Given the description of an element on the screen output the (x, y) to click on. 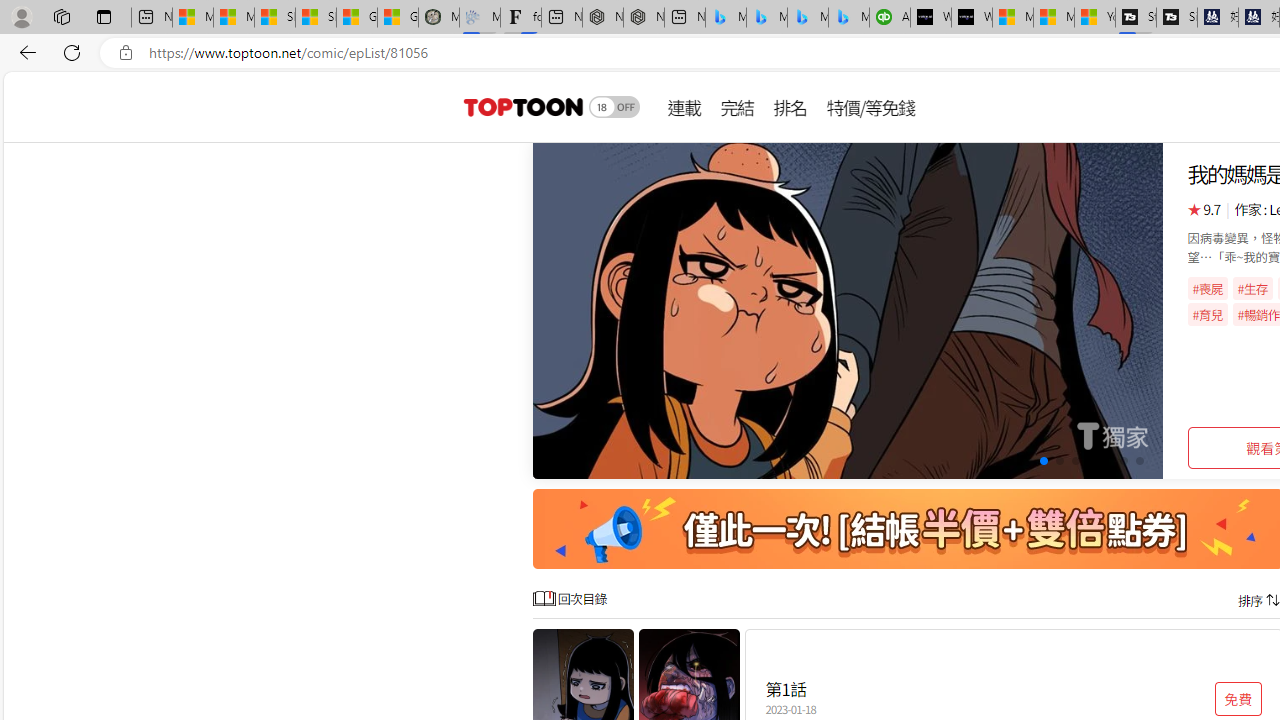
Go to slide 7 (1090, 461)
Go to slide 4 (1043, 461)
New tab (684, 17)
